Given the description of an element on the screen output the (x, y) to click on. 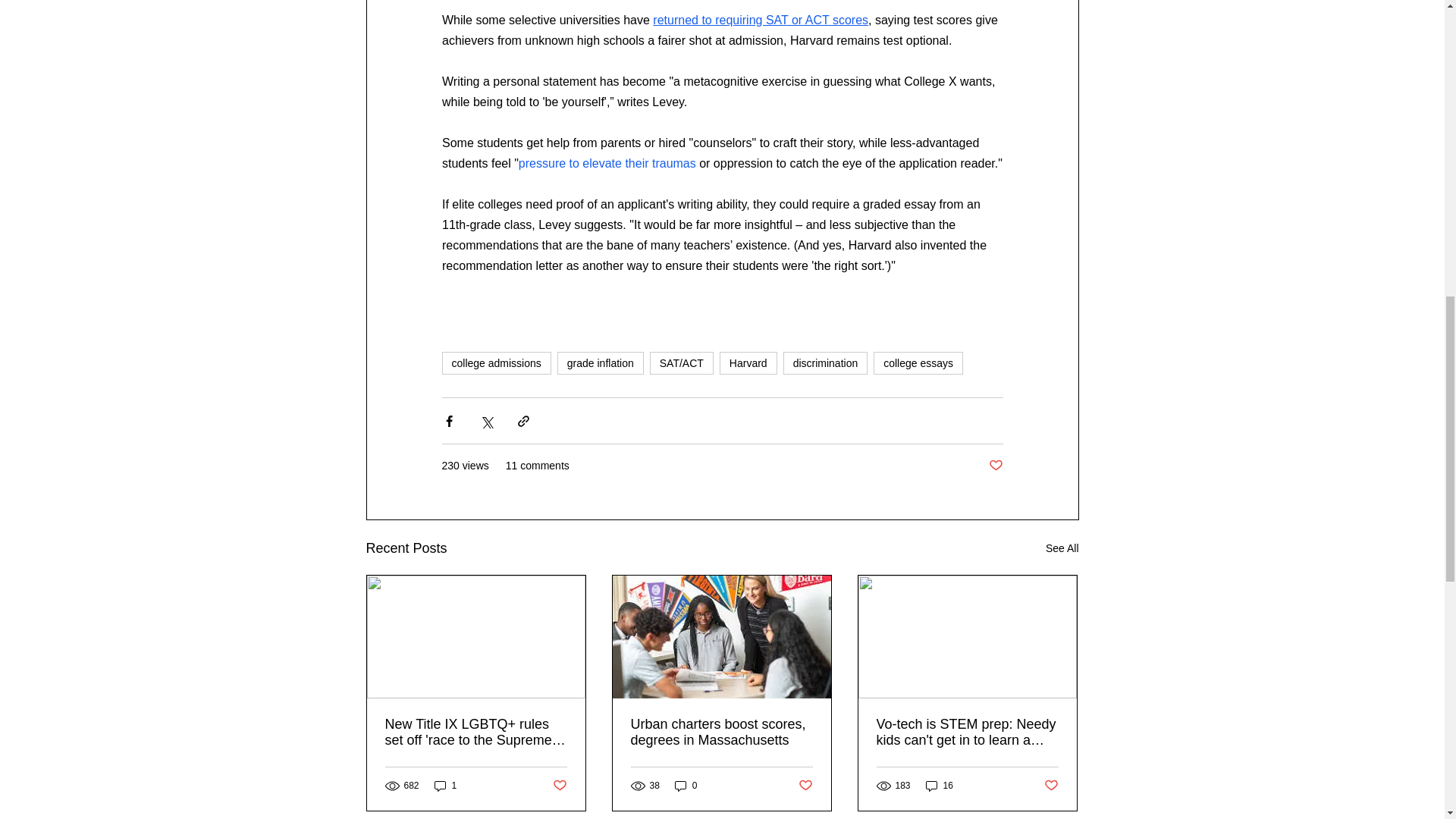
Post not marked as liked (1050, 785)
0 (685, 785)
college admissions (495, 363)
Harvard (748, 363)
1 (445, 785)
Post not marked as liked (804, 785)
college essays (917, 363)
returned to requiring SAT or ACT scores (759, 19)
discrimination (825, 363)
Urban charters boost scores, degrees in Massachusetts (721, 732)
